Given the description of an element on the screen output the (x, y) to click on. 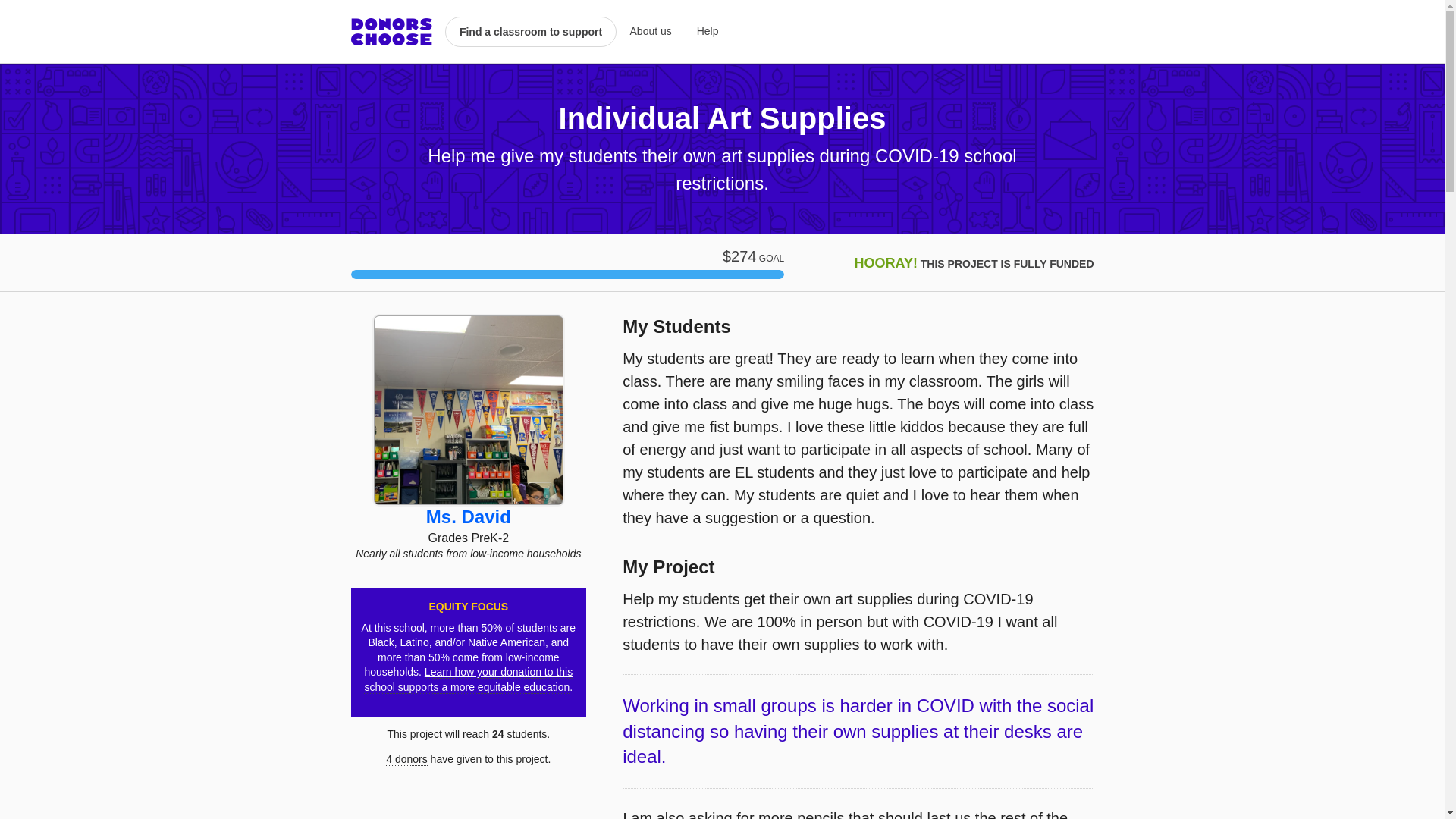
See this teacher's page (468, 516)
DonorsChoose (390, 31)
Help (702, 31)
About us (650, 31)
See this teacher's page (468, 410)
Find a classroom to support (530, 31)
